Given the description of an element on the screen output the (x, y) to click on. 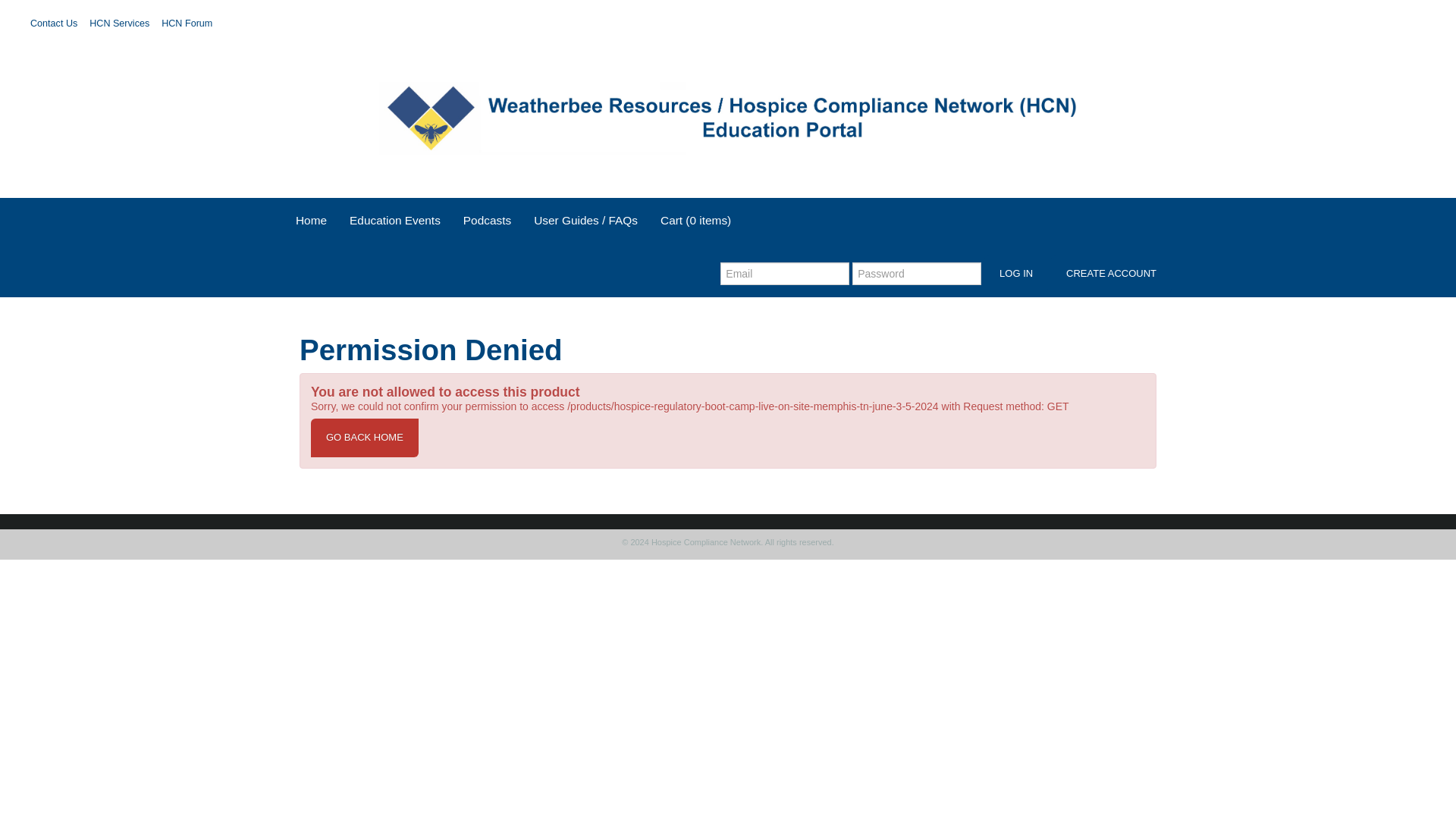
Home (310, 224)
Contact Us (55, 23)
HCN Forum (188, 23)
Education Events (394, 224)
CREATE ACCOUNT (1111, 273)
Podcasts (486, 224)
HCN Services (121, 23)
GO BACK HOME (365, 437)
LOG IN (1016, 273)
